Given the description of an element on the screen output the (x, y) to click on. 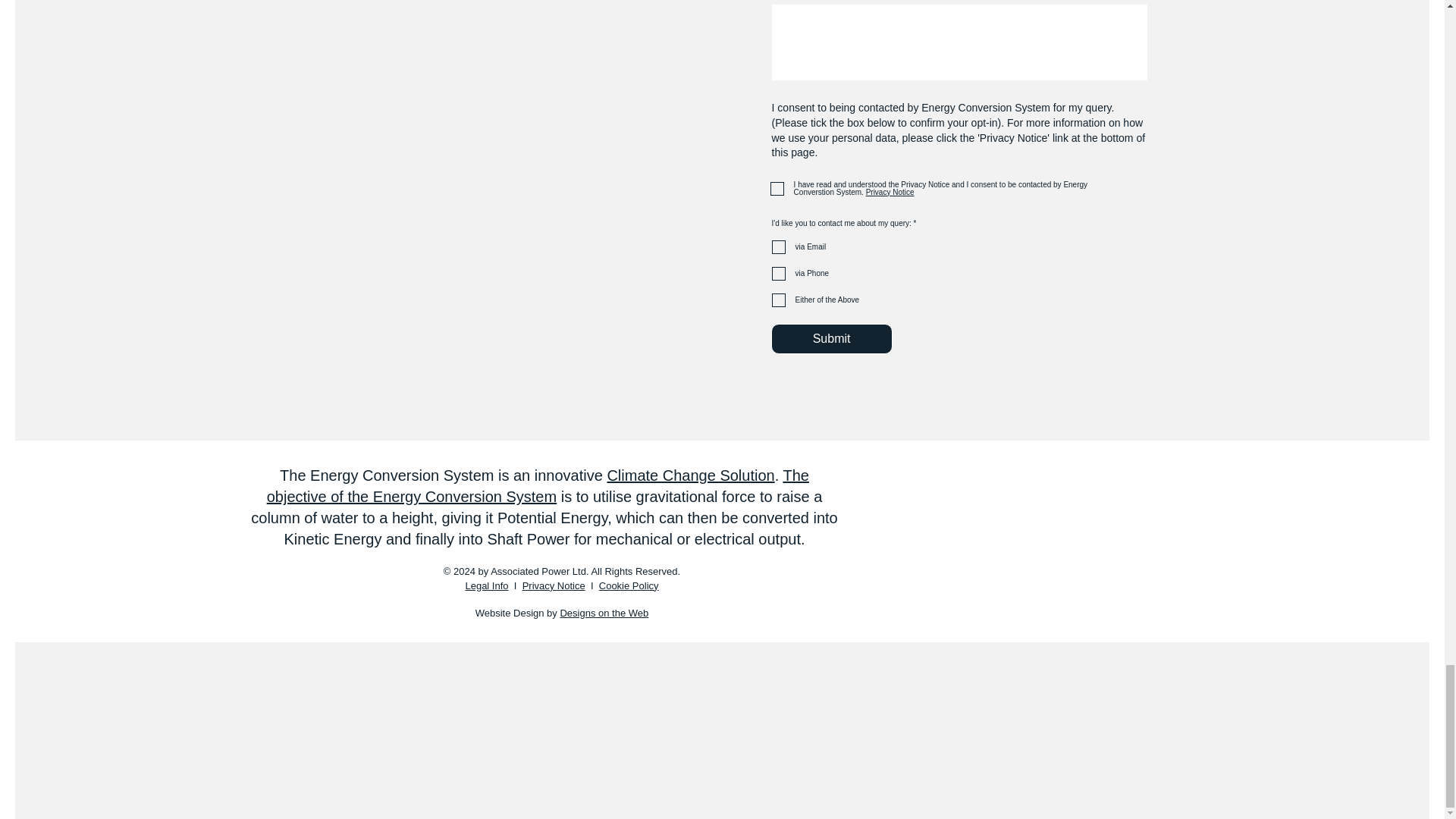
The objective of the Energy Conversion System (537, 485)
Climate Change Solution (690, 475)
Cookie Policy (628, 585)
Submit (831, 338)
Designs on the Web (603, 613)
Legal Info (486, 585)
Privacy Notice (553, 585)
Privacy Notice (888, 192)
